Given the description of an element on the screen output the (x, y) to click on. 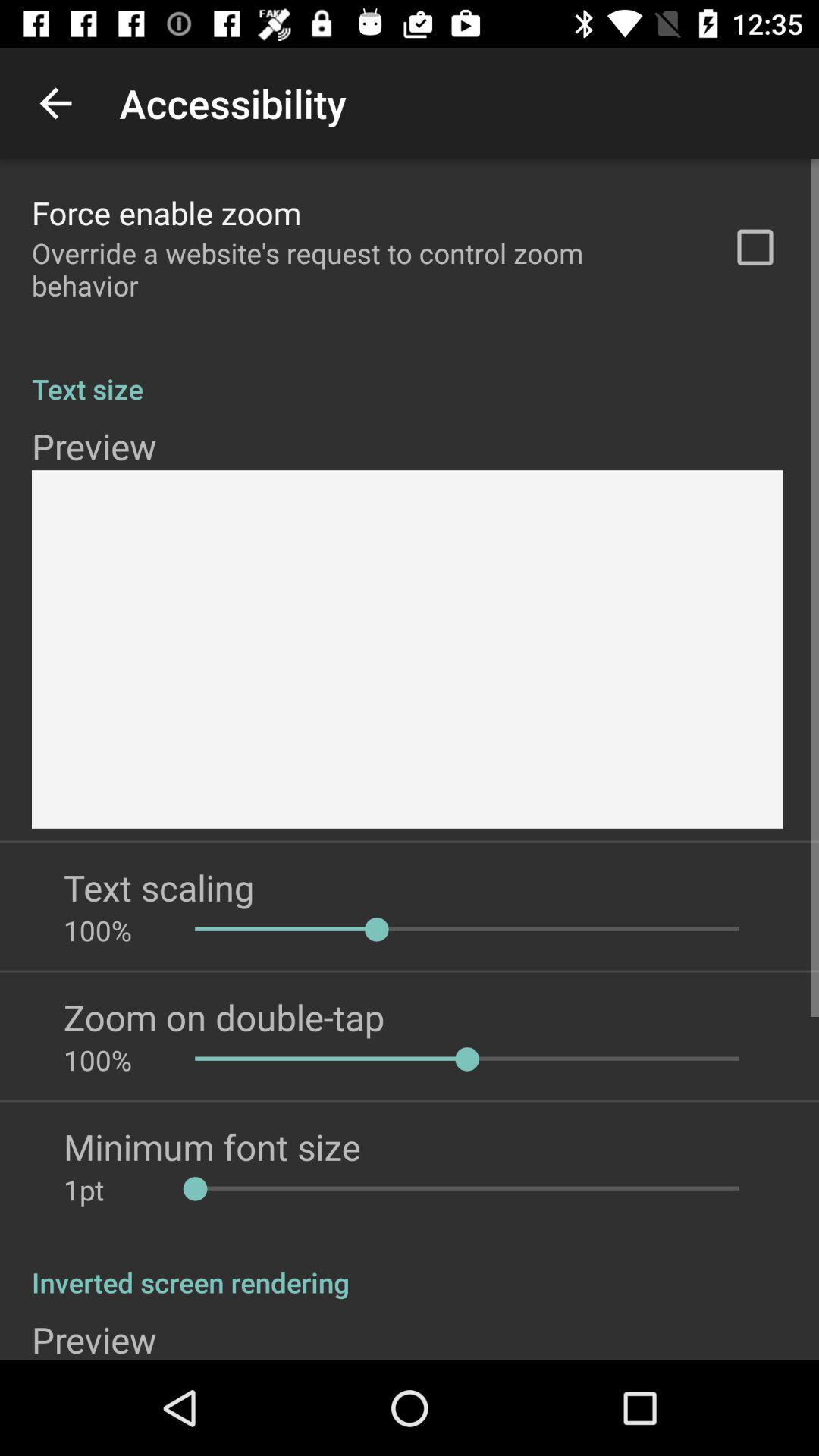
turn on app below the 100% app (211, 1146)
